Given the description of an element on the screen output the (x, y) to click on. 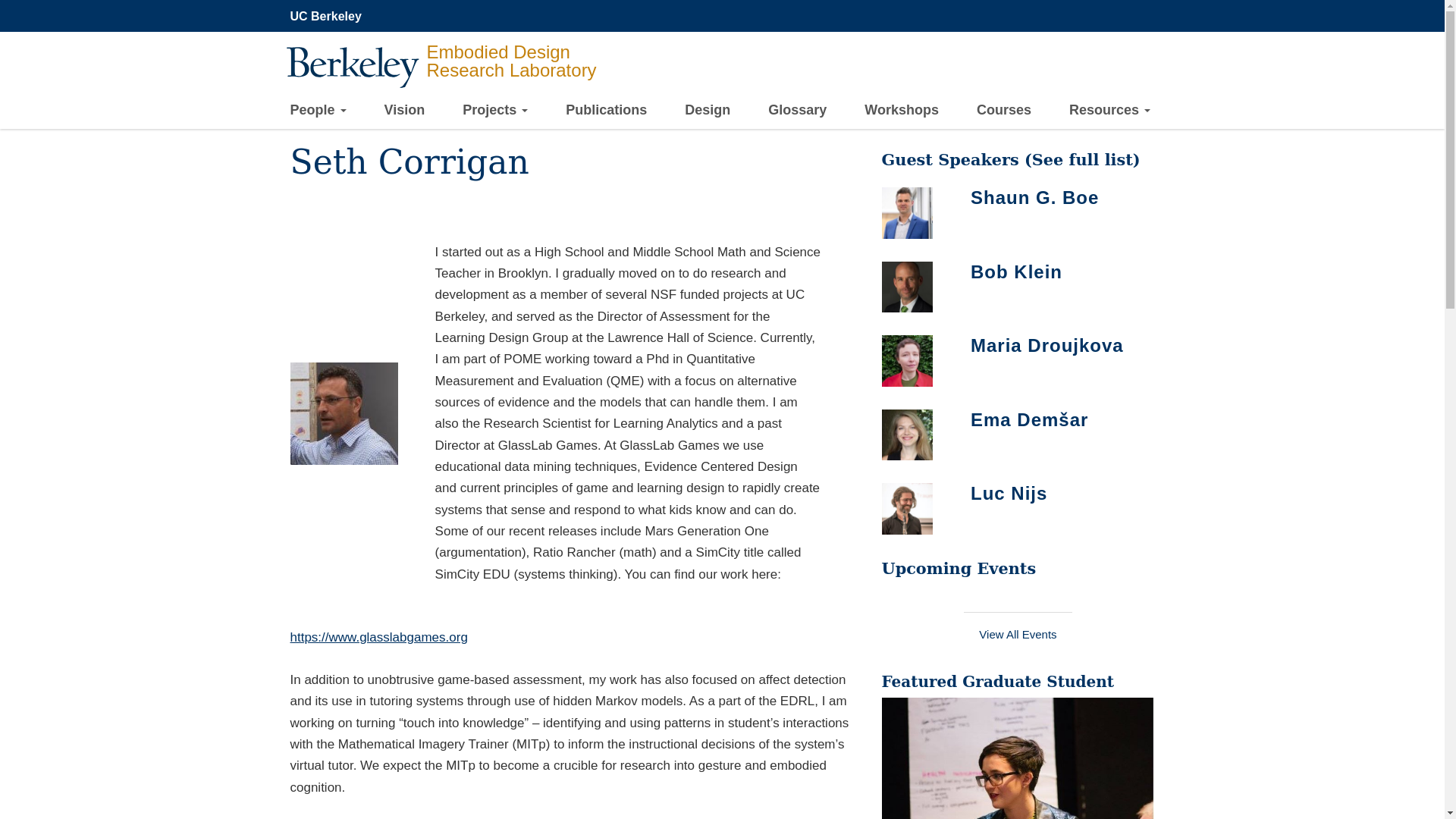
Projects (495, 112)
Glossary (797, 110)
Embodied Design Research Laboratory (452, 89)
Vision (404, 110)
Projects (495, 112)
Design (707, 110)
People (317, 112)
Courses (1003, 110)
Publications (606, 110)
Workshops (901, 110)
Vision (404, 110)
UC Berkeley (329, 16)
People (317, 112)
Resources (1109, 112)
Skip to main content (10, 4)
